Given the description of an element on the screen output the (x, y) to click on. 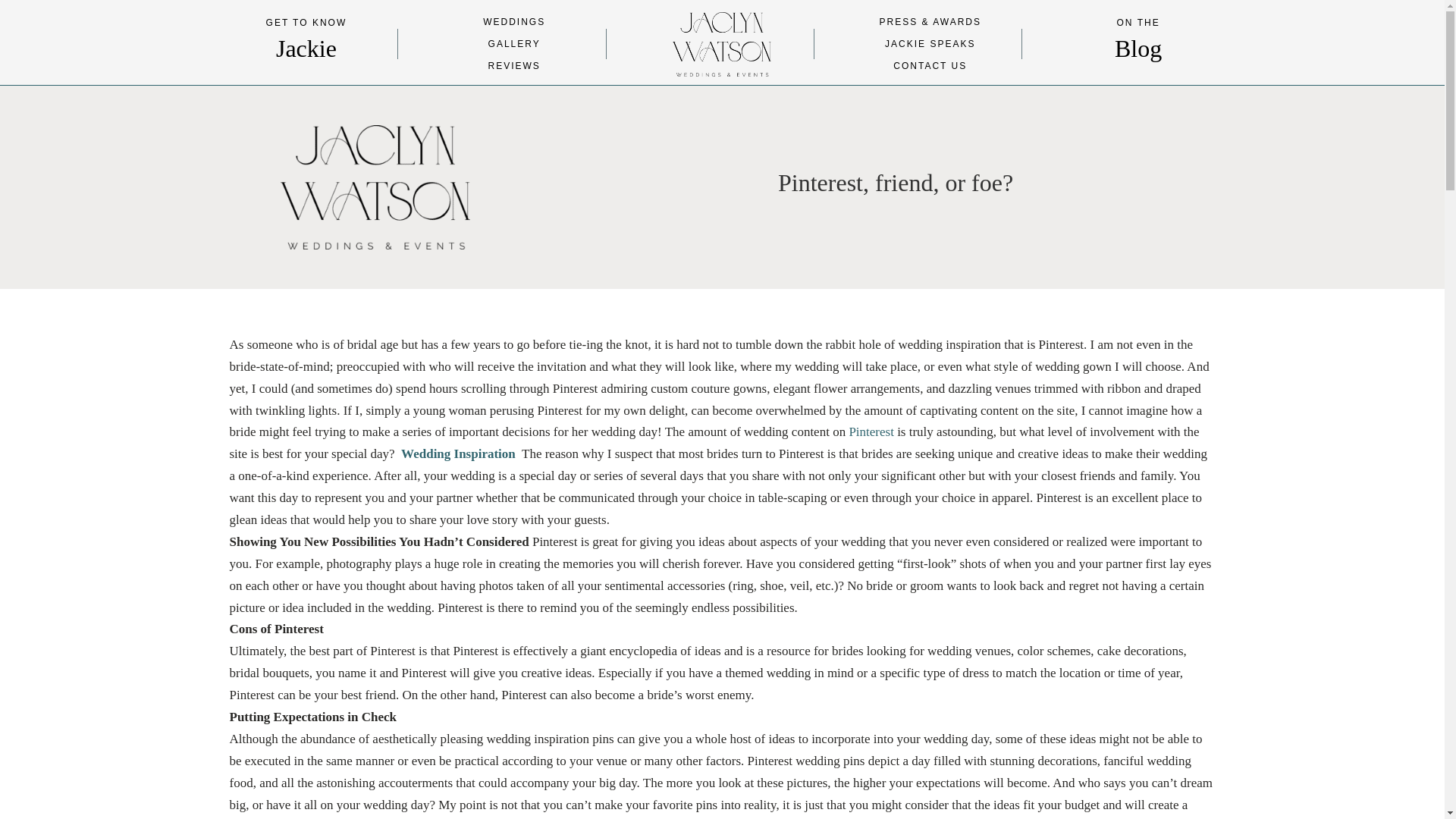
Pinterest (872, 431)
Wedding Inspiration  (459, 453)
WEDDINGS (513, 21)
CONTACT US (929, 65)
GET TO KNOW (306, 22)
Jackie (306, 48)
Blog (1138, 48)
GALLERY (513, 43)
REVIEWS (513, 65)
JACKIE SPEAKS (930, 43)
ON THE (1138, 22)
JaclynWatsonLogo-Stacked-Black (375, 187)
